Given the description of an element on the screen output the (x, y) to click on. 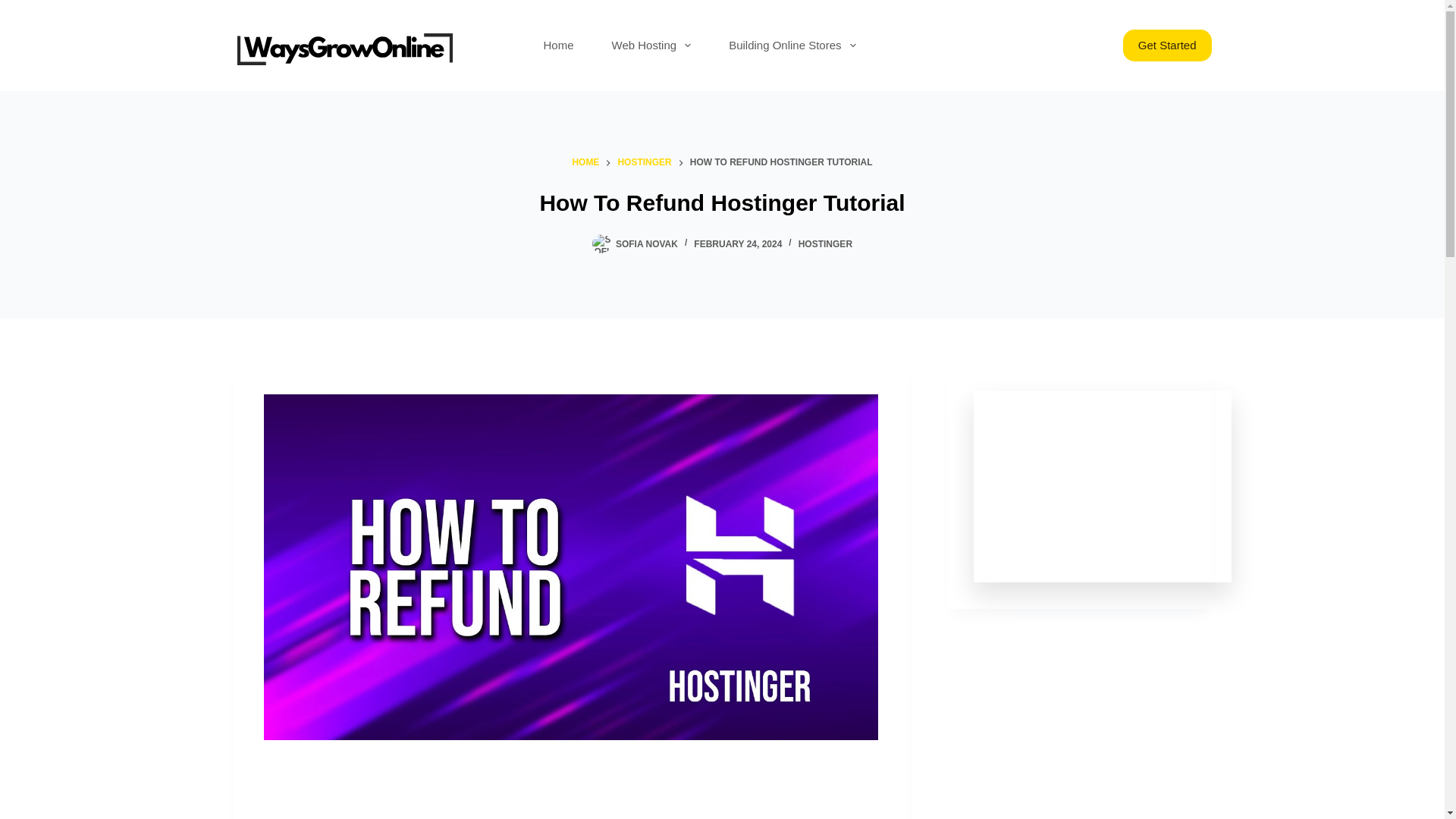
Web Hosting (651, 45)
How To Refund Hostinger Tutorial (722, 202)
HOSTINGER (824, 244)
Building Online Stores (792, 45)
SOFIA NOVAK (646, 244)
Posts by Sofia Novak (646, 244)
HOME (585, 162)
HOSTINGER (644, 162)
Home (558, 45)
Get Started (1166, 45)
